Given the description of an element on the screen output the (x, y) to click on. 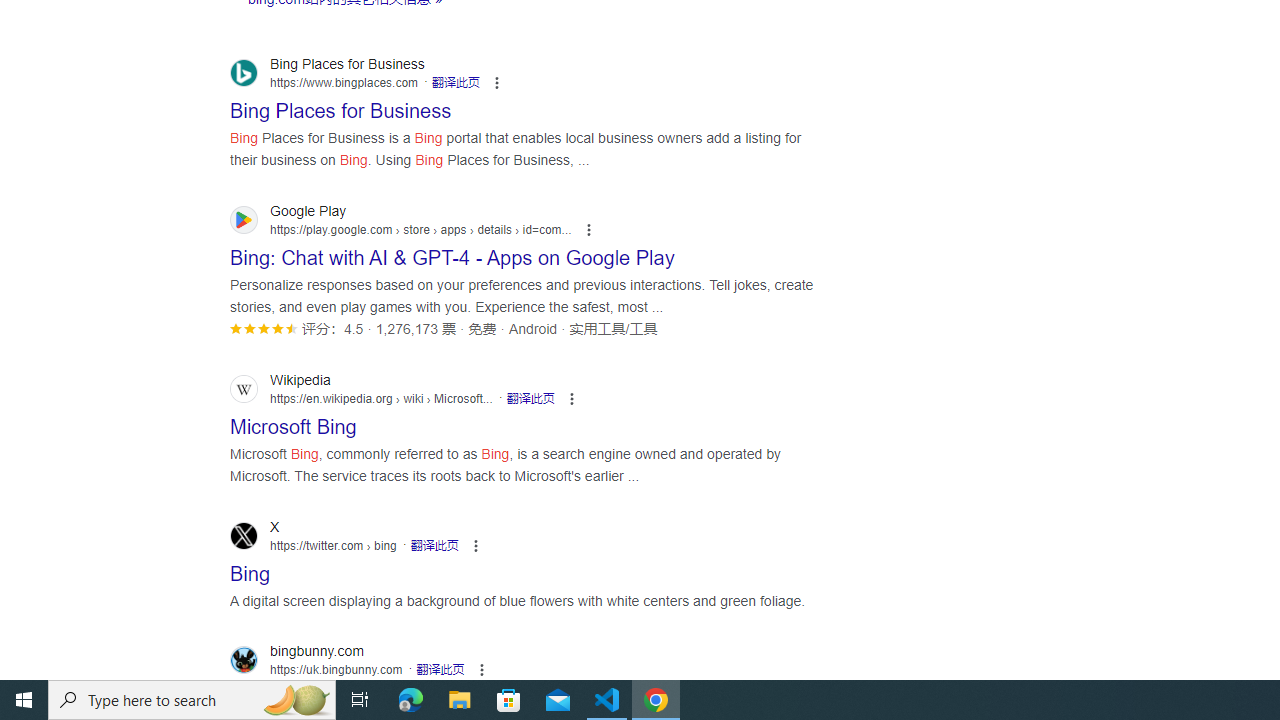
 Bing Bunny: Home bingbunny.com https://uk.bingbunny.com (313, 692)
